Given the description of an element on the screen output the (x, y) to click on. 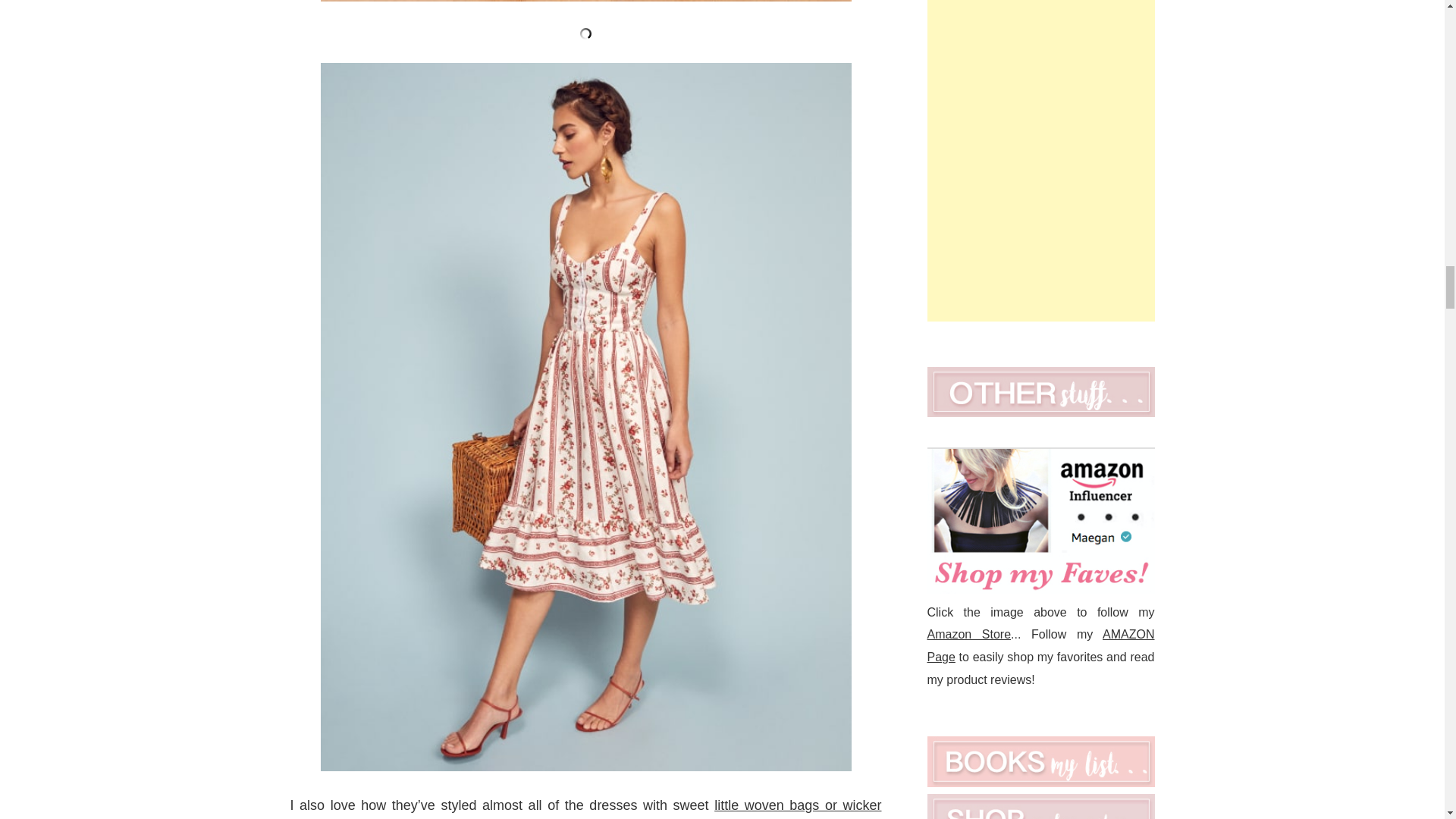
little woven bags or wicker basket purses (584, 808)
